Given the description of an element on the screen output the (x, y) to click on. 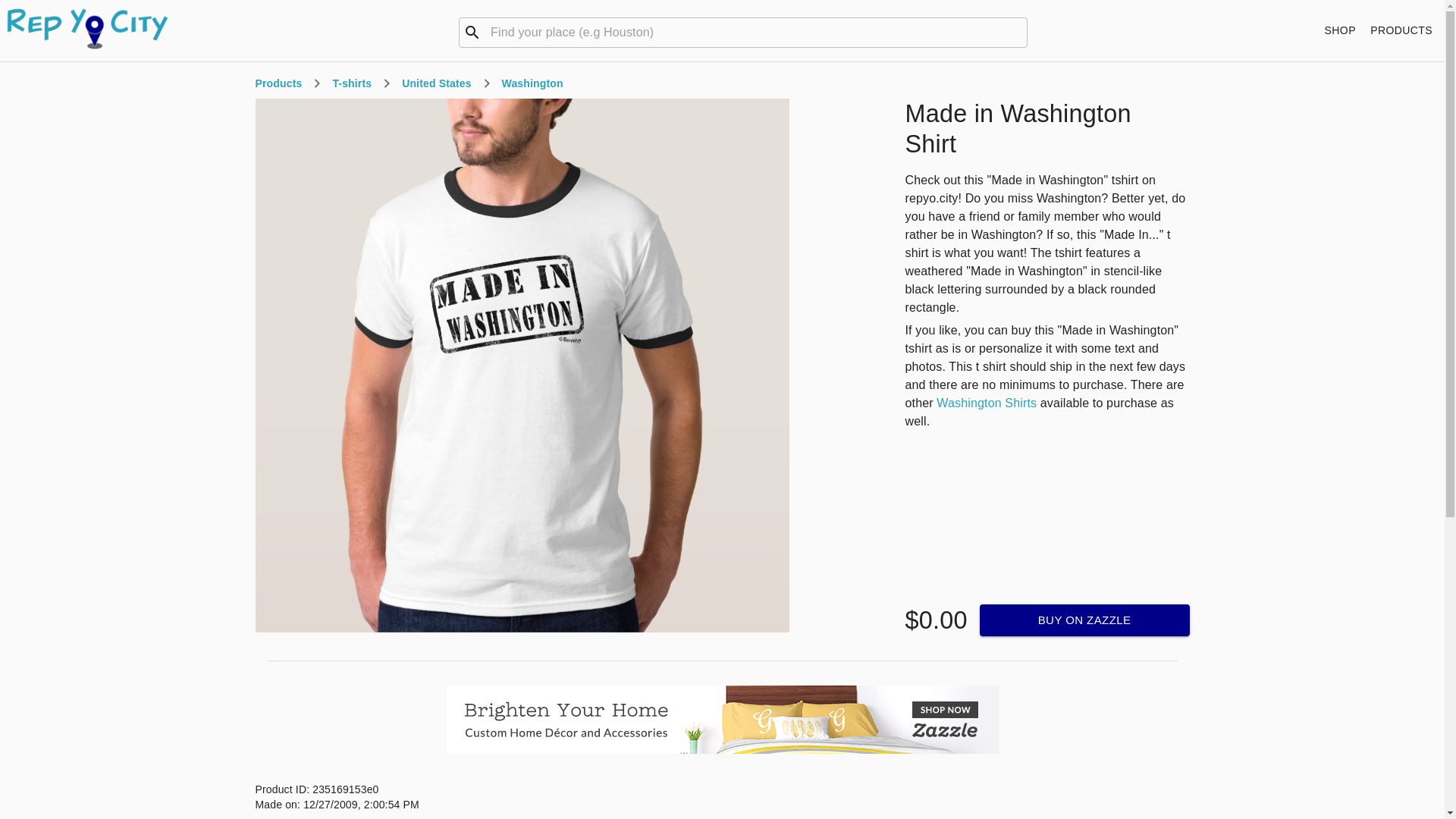
United States (435, 82)
BUY ON ZAZZLE (1084, 620)
PRODUCTS (1401, 30)
Washington Shirts (986, 402)
SHOP (1340, 30)
Products (277, 82)
T-shirts (351, 82)
Washington (532, 82)
